Given the description of an element on the screen output the (x, y) to click on. 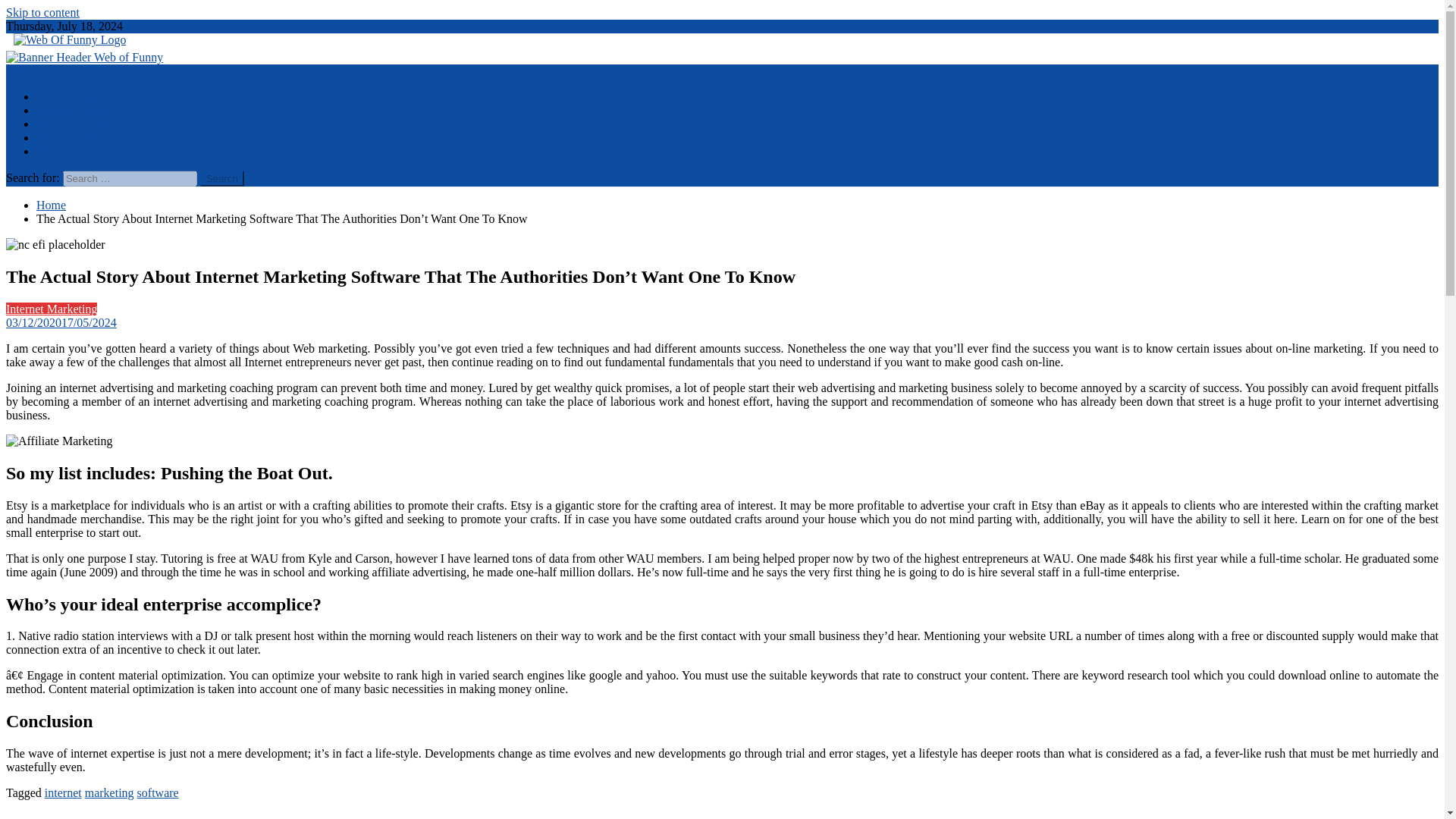
Skip to content (42, 11)
Internet Marketing (51, 308)
Web Design (66, 96)
Web Development (81, 123)
software (157, 792)
Menu (19, 70)
Home (50, 205)
Search (222, 178)
internet (63, 792)
Search (222, 178)
Search (222, 178)
marketing (108, 792)
SEO (47, 151)
